Given the description of an element on the screen output the (x, y) to click on. 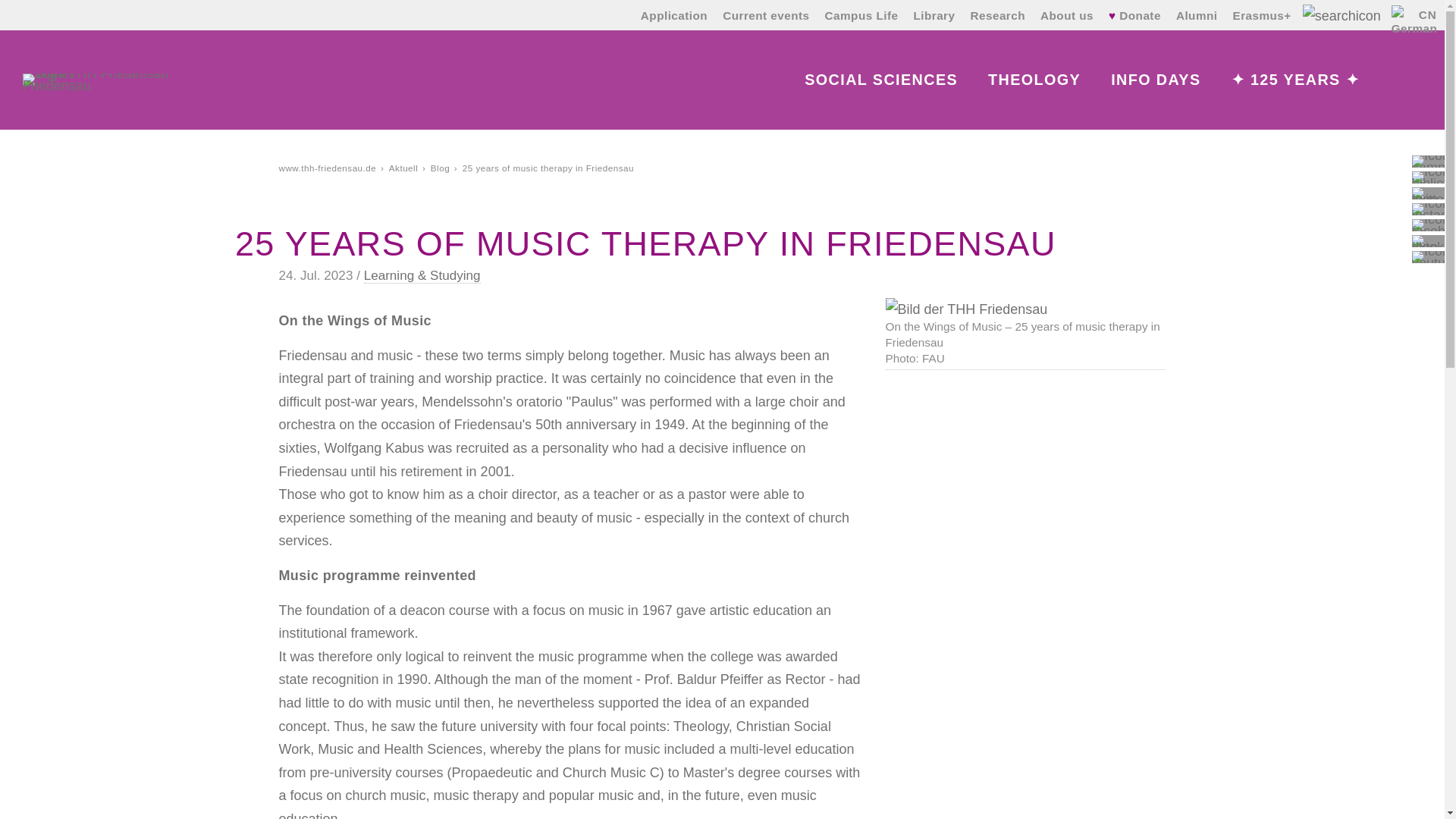
Link Youtube (1428, 256)
Link Tiktok (1428, 241)
Icon twitter (1430, 193)
Link Facebook (1428, 224)
Icon facebook (1434, 224)
Campus Life (861, 15)
Icon bibliothek (1434, 177)
Link Campusnet (1428, 161)
Current events (765, 15)
Library (933, 15)
